Given the description of an element on the screen output the (x, y) to click on. 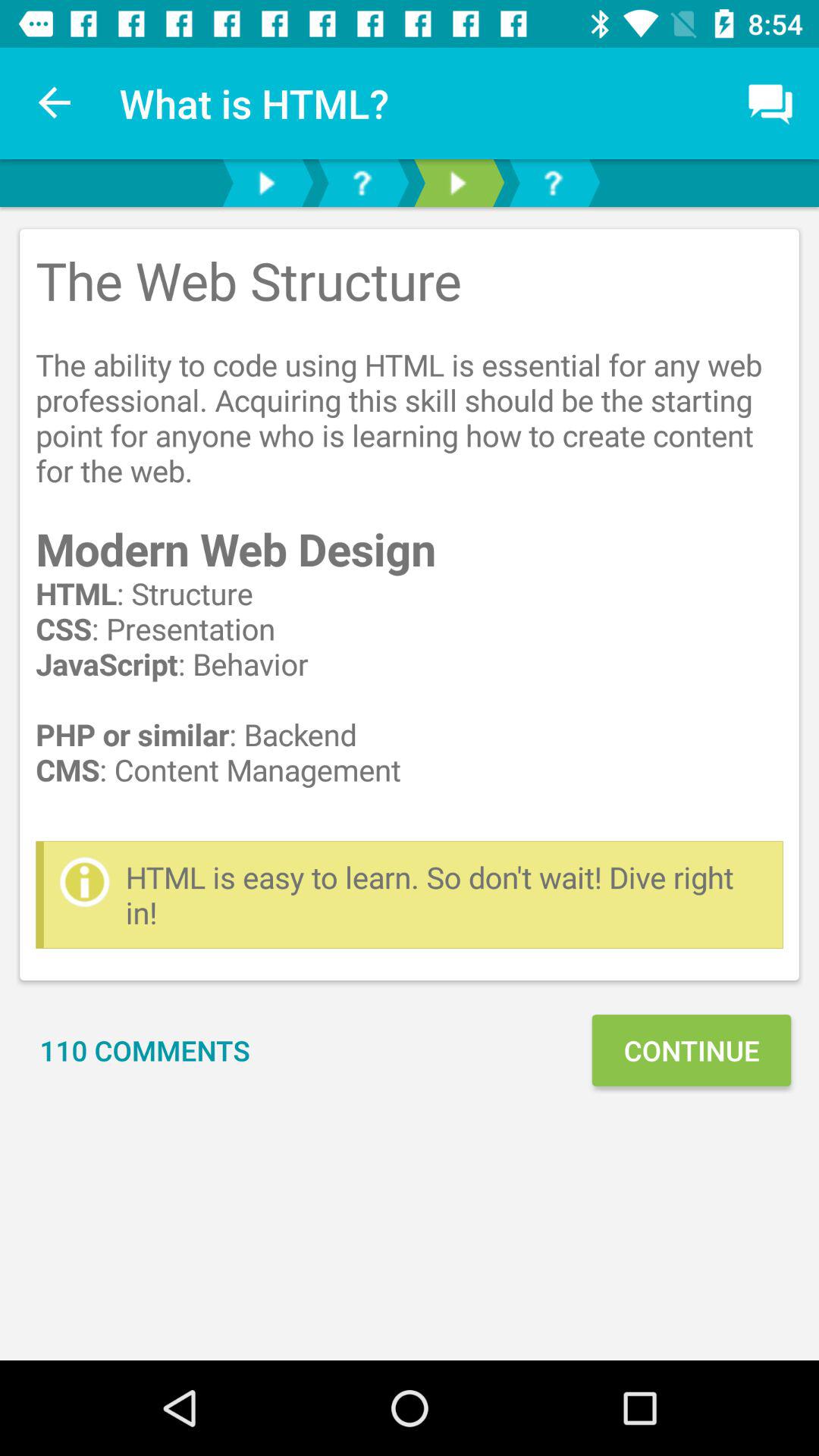
open item below the html is easy icon (144, 1050)
